Given the description of an element on the screen output the (x, y) to click on. 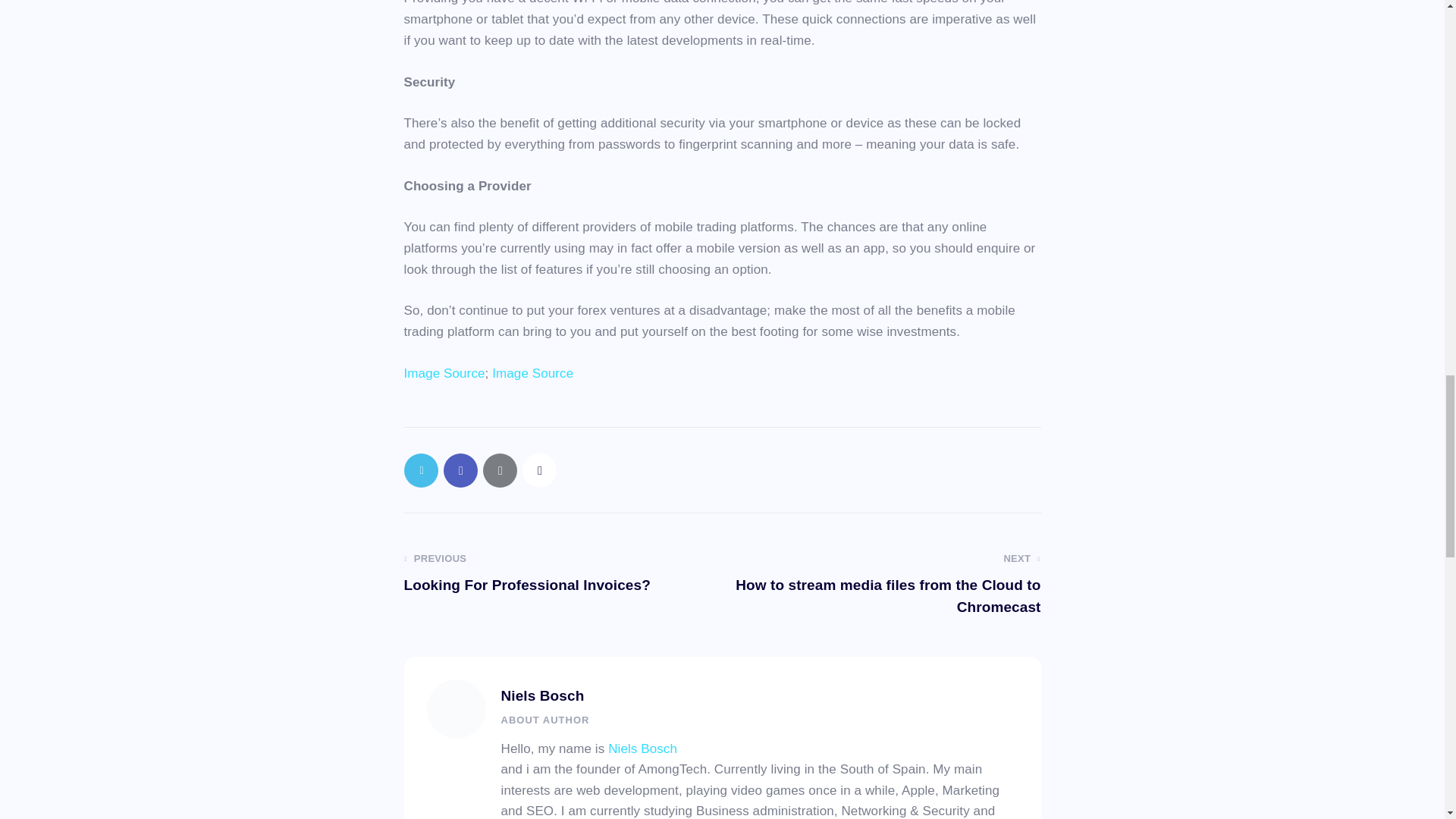
Copy URL to clipboard (538, 470)
